Given the description of an element on the screen output the (x, y) to click on. 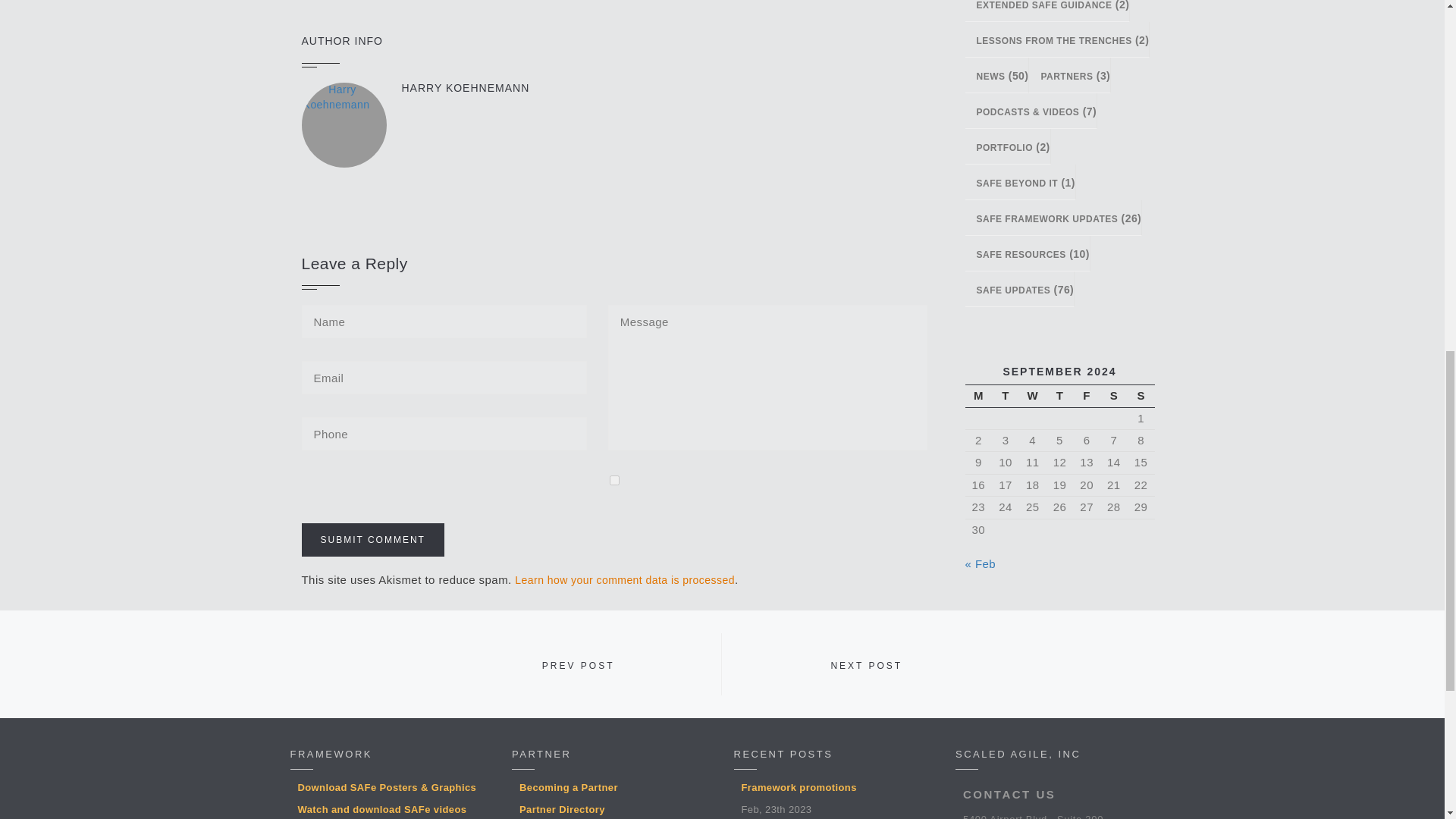
Submit Comment (372, 539)
Sunday (1140, 395)
Saturday (1113, 395)
yes (614, 480)
Monday (977, 395)
Wednesday (1032, 395)
Friday (1086, 395)
Thursday (1060, 395)
Tuesday (1005, 395)
